Given the description of an element on the screen output the (x, y) to click on. 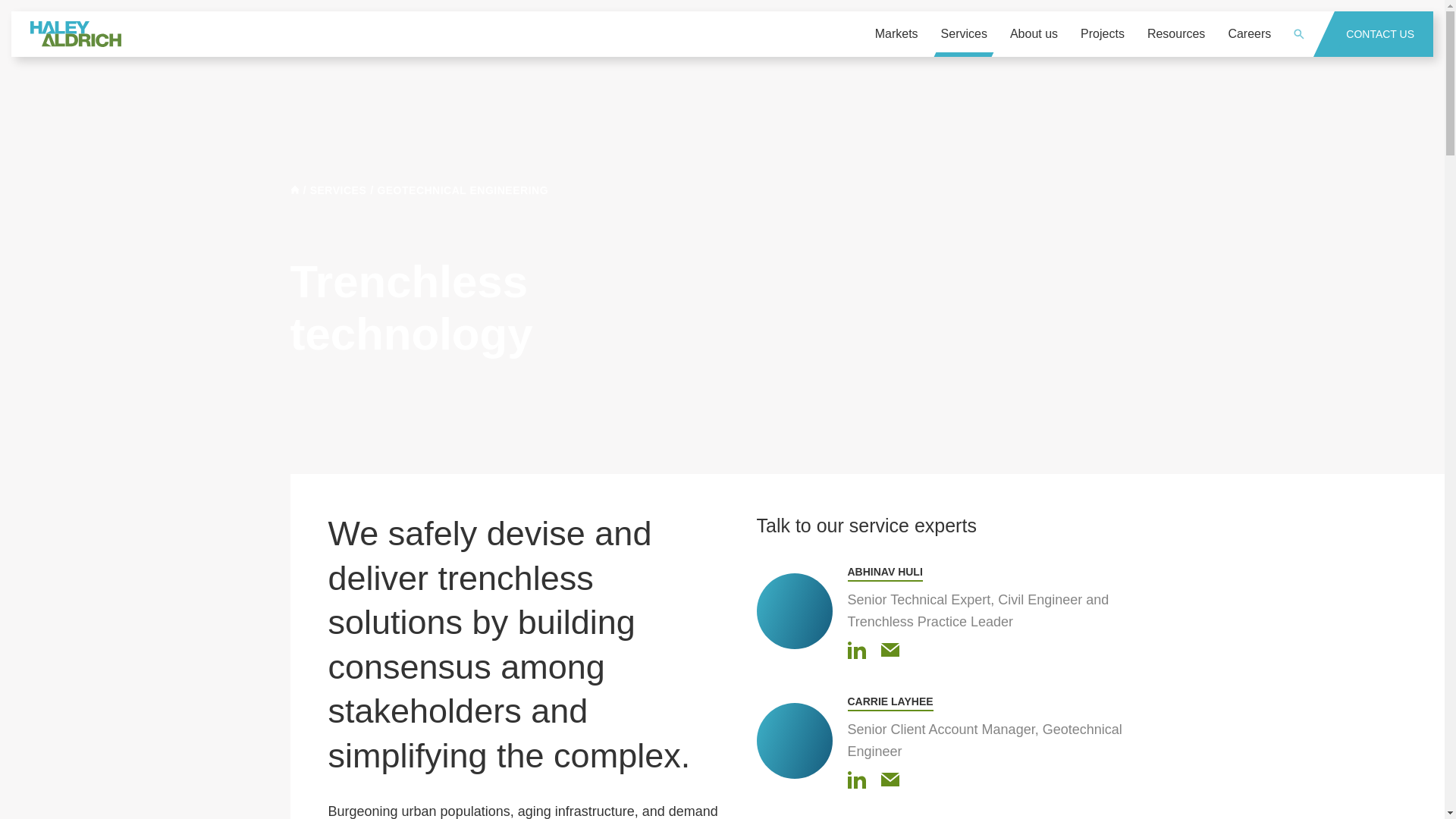
HOME (293, 189)
Markets (896, 33)
Services (964, 33)
